Given the description of an element on the screen output the (x, y) to click on. 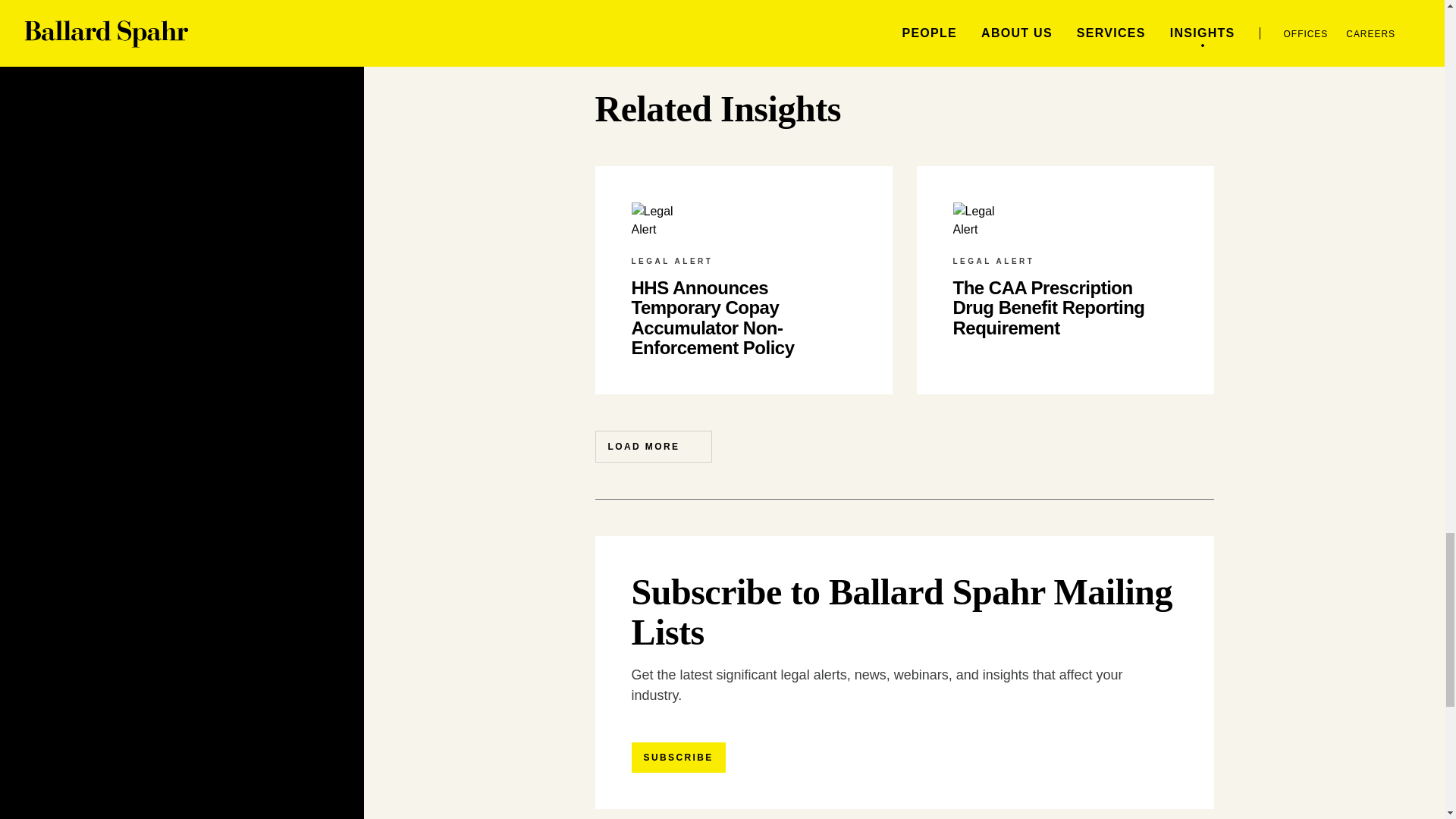
SUBSCRIBE (677, 757)
LOAD MORE (652, 446)
